Given the description of an element on the screen output the (x, y) to click on. 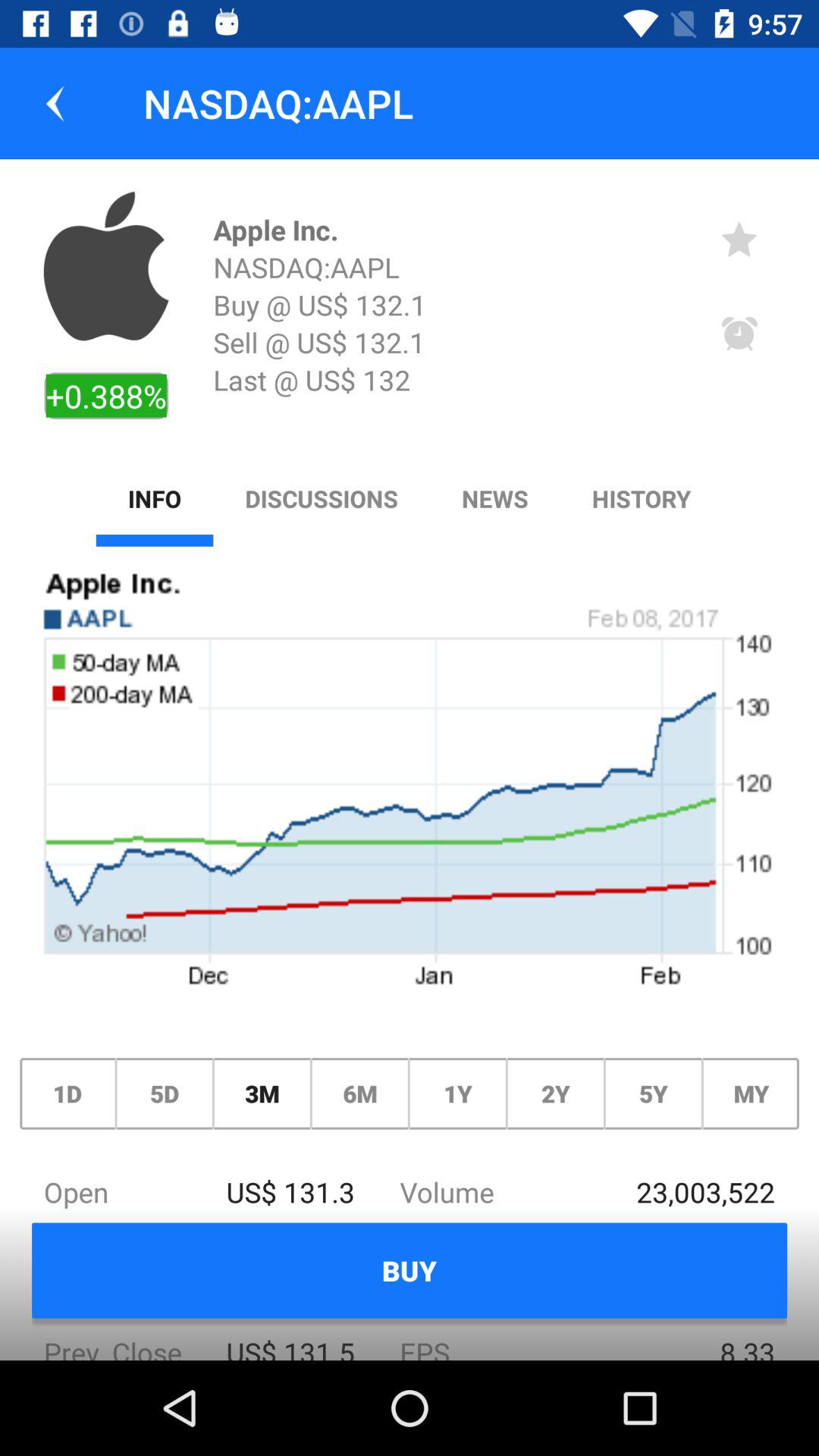
flip to the 5y (653, 1093)
